Given the description of an element on the screen output the (x, y) to click on. 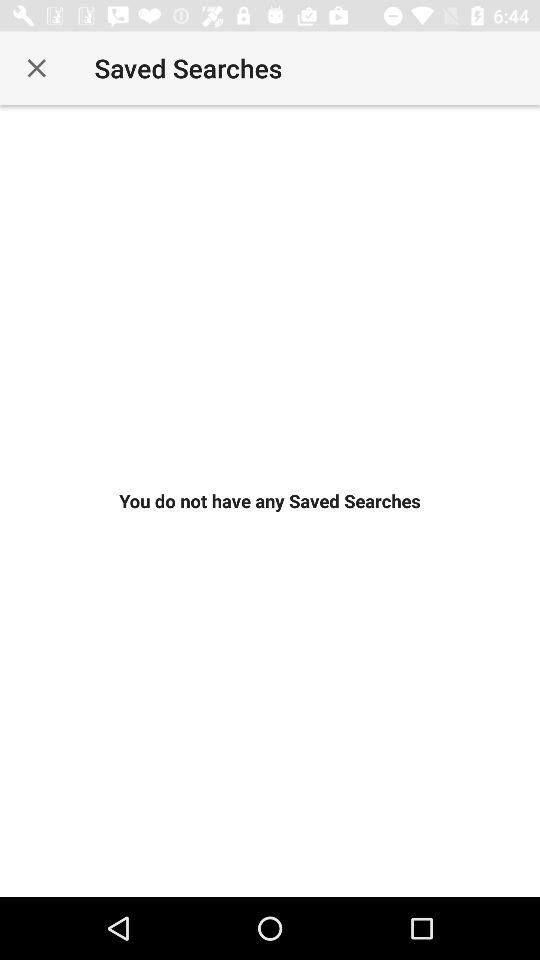
turn on item to the left of the saved searches icon (36, 68)
